Given the description of an element on the screen output the (x, y) to click on. 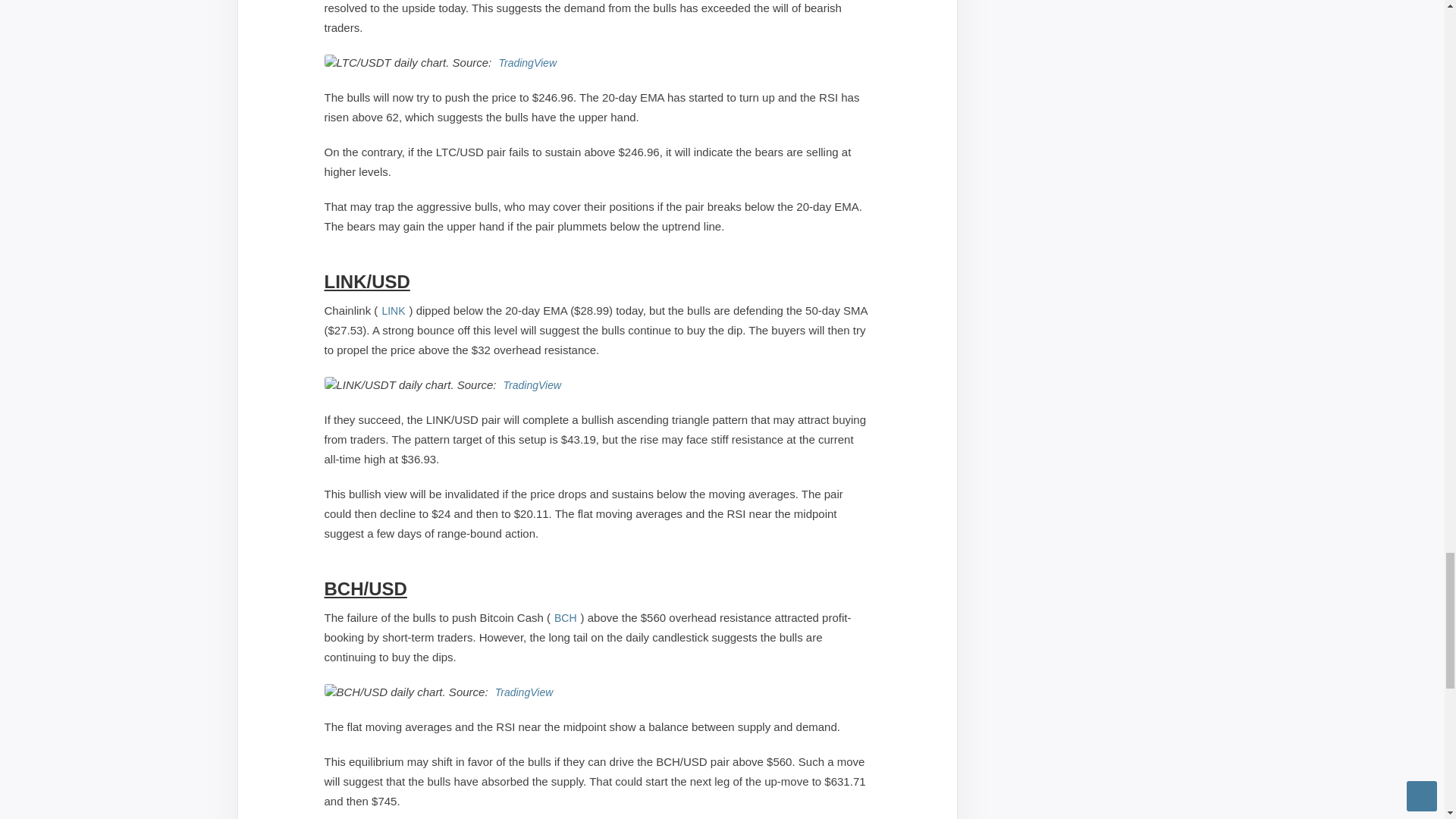
BCH (565, 617)
TradingView (524, 691)
TradingView (532, 384)
LINK (393, 309)
TradingView (527, 62)
